Given the description of an element on the screen output the (x, y) to click on. 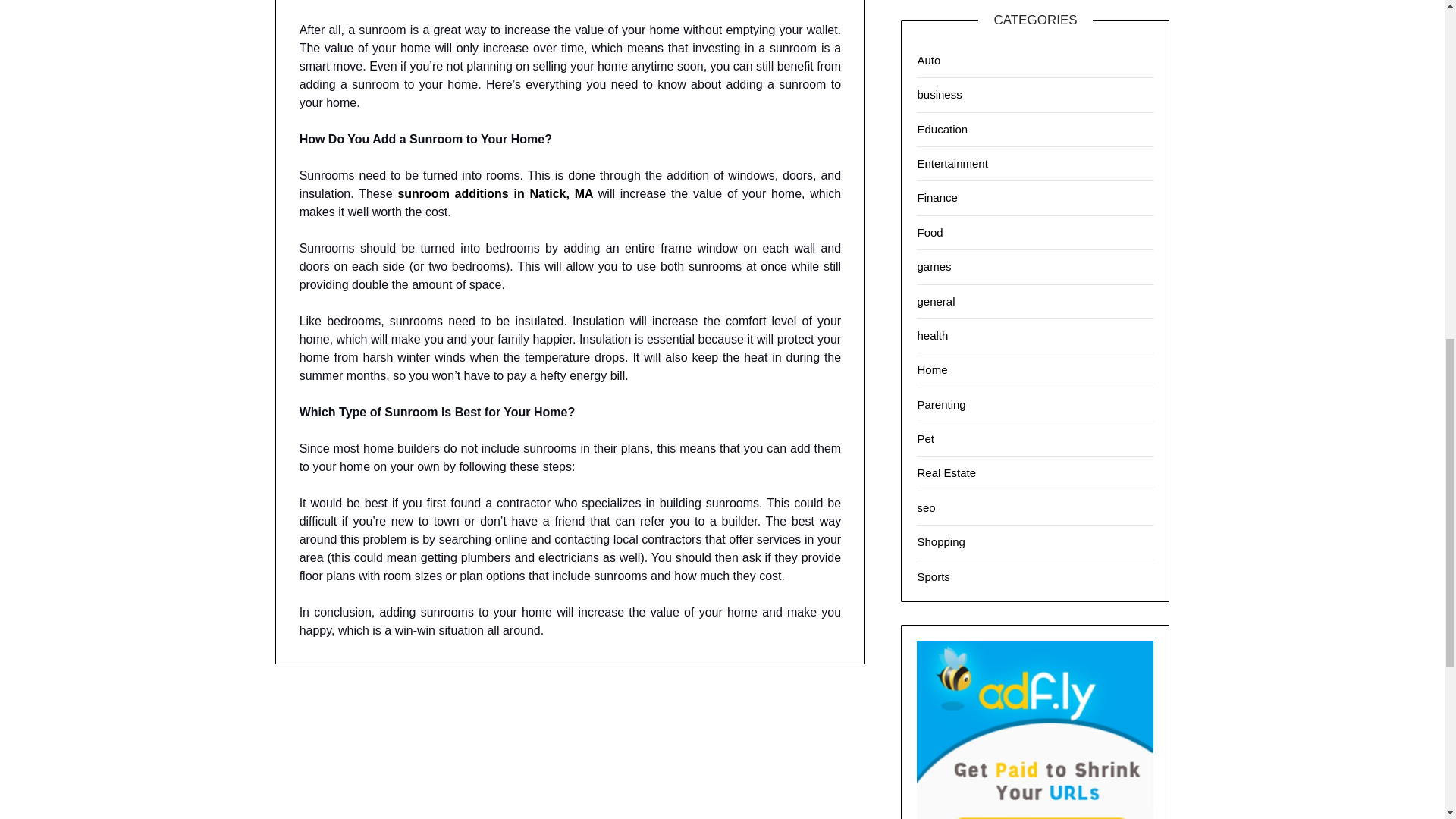
Education (942, 128)
Parenting (941, 404)
Entertainment (952, 163)
Food (929, 232)
games (933, 266)
seo (925, 507)
general (936, 300)
Sports (933, 576)
Finance (936, 196)
Pet (925, 438)
health (932, 335)
Home (932, 369)
sunroom additions in Natick, MA (494, 193)
business (938, 93)
Shopping (940, 541)
